Given the description of an element on the screen output the (x, y) to click on. 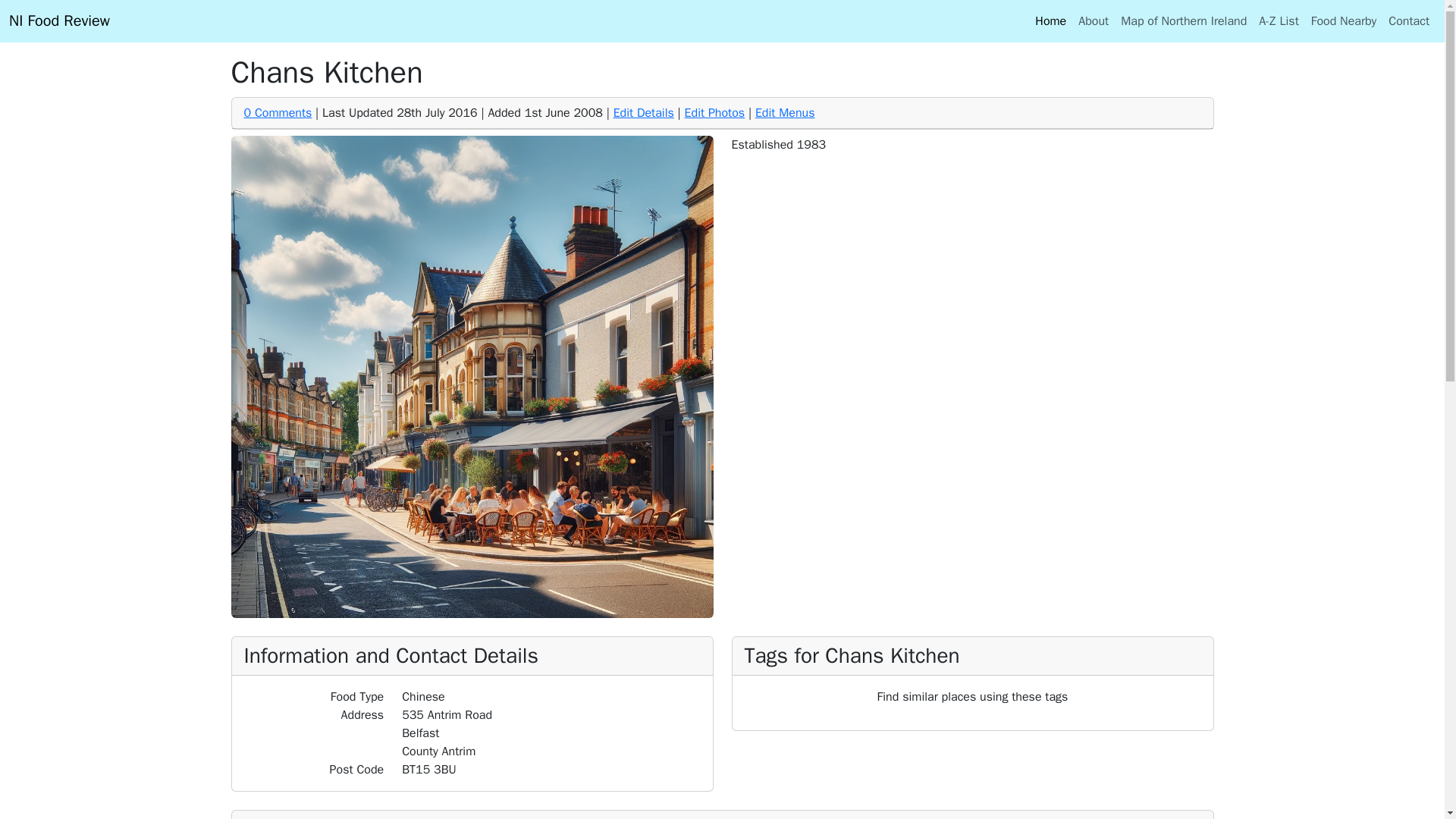
Contact (1408, 20)
Edit Details (643, 112)
A-Z List (1278, 20)
NI Food Review (59, 20)
About (1093, 20)
Edit Menus (785, 112)
0 Comments (278, 112)
Map of Northern Ireland (1183, 20)
Home (1050, 20)
Food Nearby (1343, 20)
Edit Photos (714, 112)
